Given the description of an element on the screen output the (x, y) to click on. 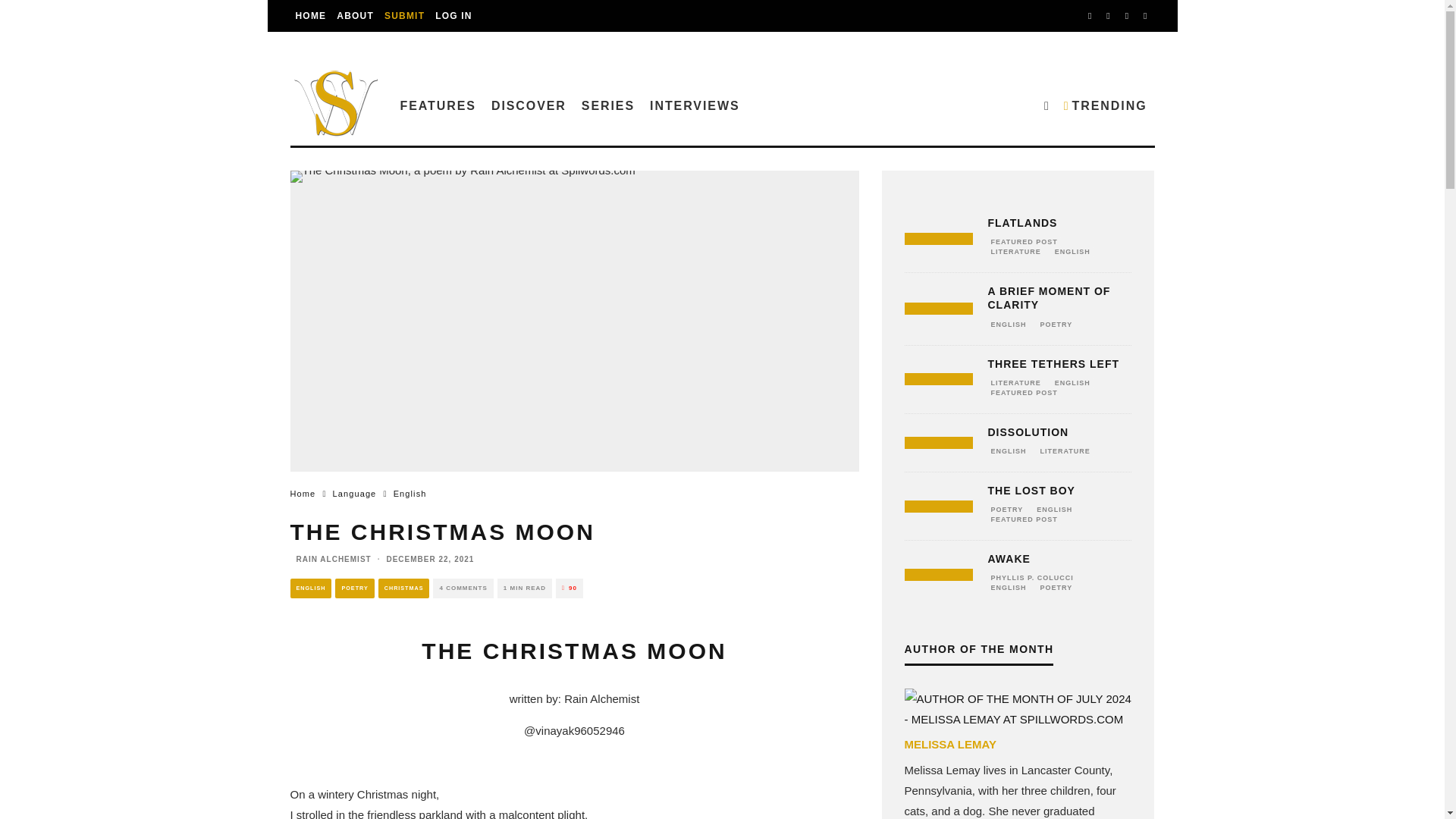
FEATURES (438, 104)
ABOUT (354, 15)
HOME (310, 15)
SUBMIT (403, 15)
LOG IN (453, 15)
DISCOVER (528, 104)
